Given the description of an element on the screen output the (x, y) to click on. 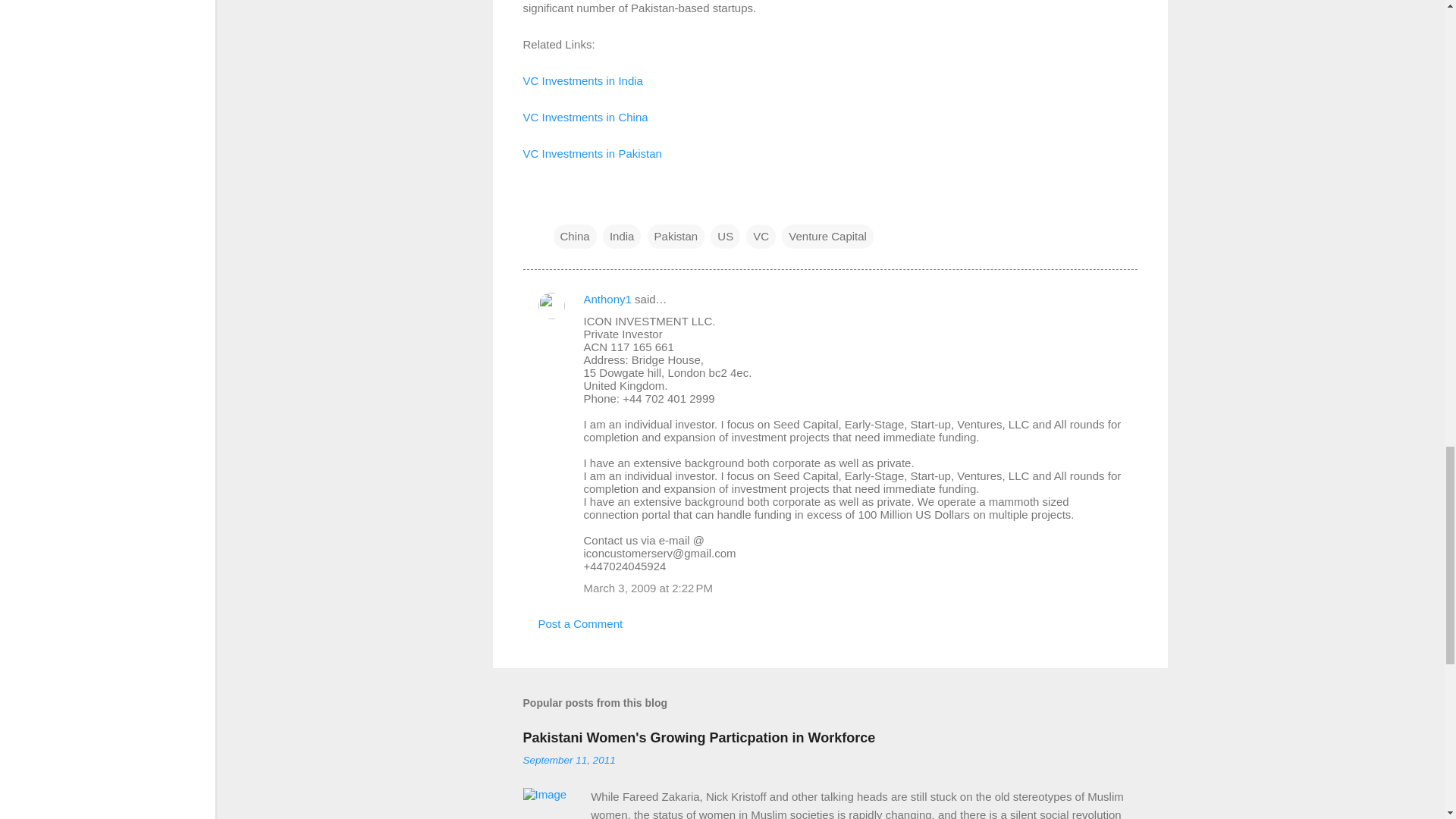
VC Investments in Pakistan (592, 153)
VC Investments in China (584, 116)
US (724, 236)
VC (760, 236)
Email Post (562, 205)
comment permalink (648, 587)
VC Investments in India (582, 80)
Anthony1 (607, 298)
India (622, 236)
Pakistan (675, 236)
China (574, 236)
Venture Capital (827, 236)
